Given the description of an element on the screen output the (x, y) to click on. 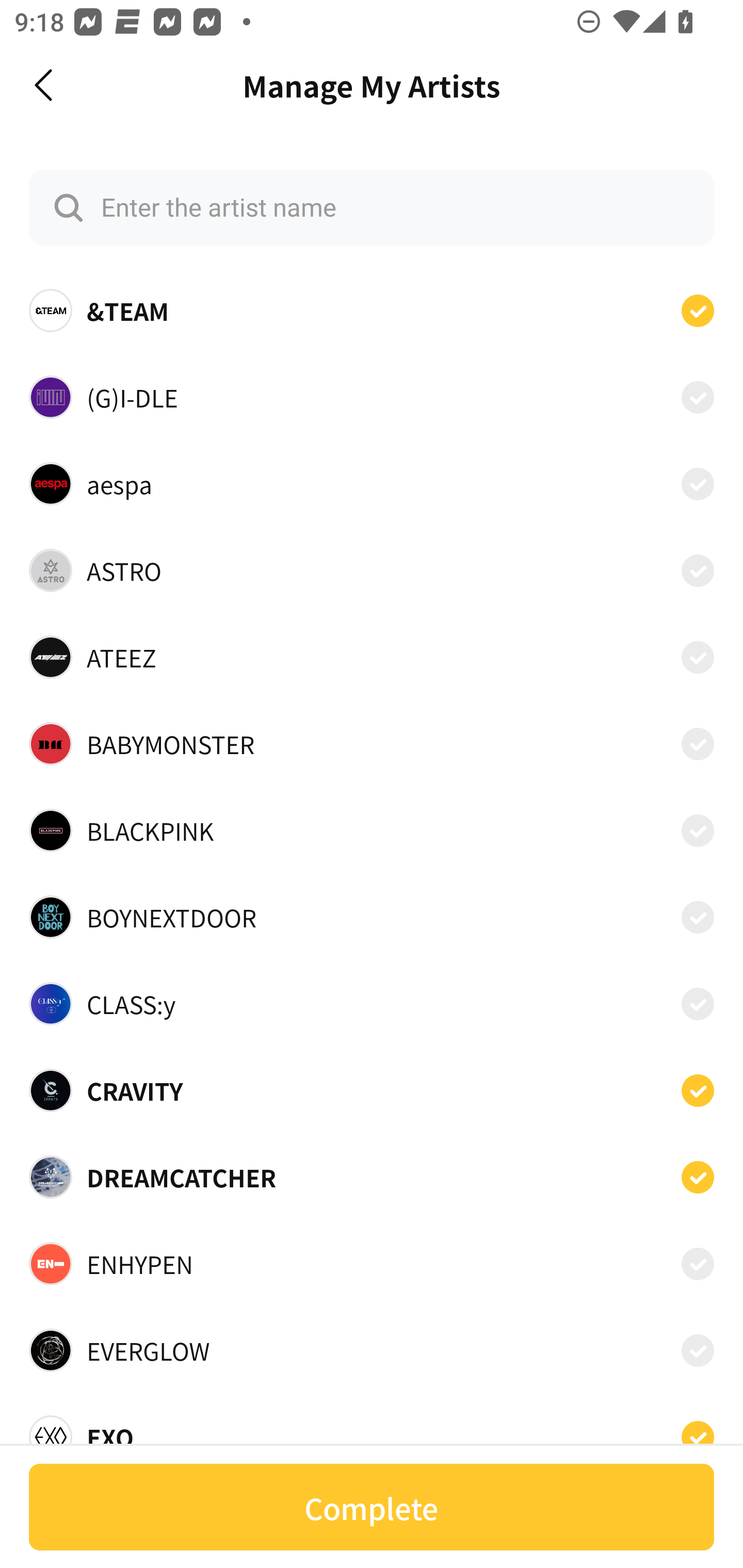
Enter the artist name (371, 207)
&TEAM (371, 310)
(G)I-DLE (371, 396)
aespa (371, 483)
ASTRO (371, 570)
ATEEZ (371, 656)
BABYMONSTER (371, 743)
BLACKPINK (371, 830)
BOYNEXTDOOR (371, 917)
CLASS:y (371, 1003)
CRAVITY (371, 1090)
DREAMCATCHER (371, 1176)
ENHYPEN (371, 1263)
EVERGLOW (371, 1350)
EXO (371, 1430)
Complete (371, 1507)
